Given the description of an element on the screen output the (x, y) to click on. 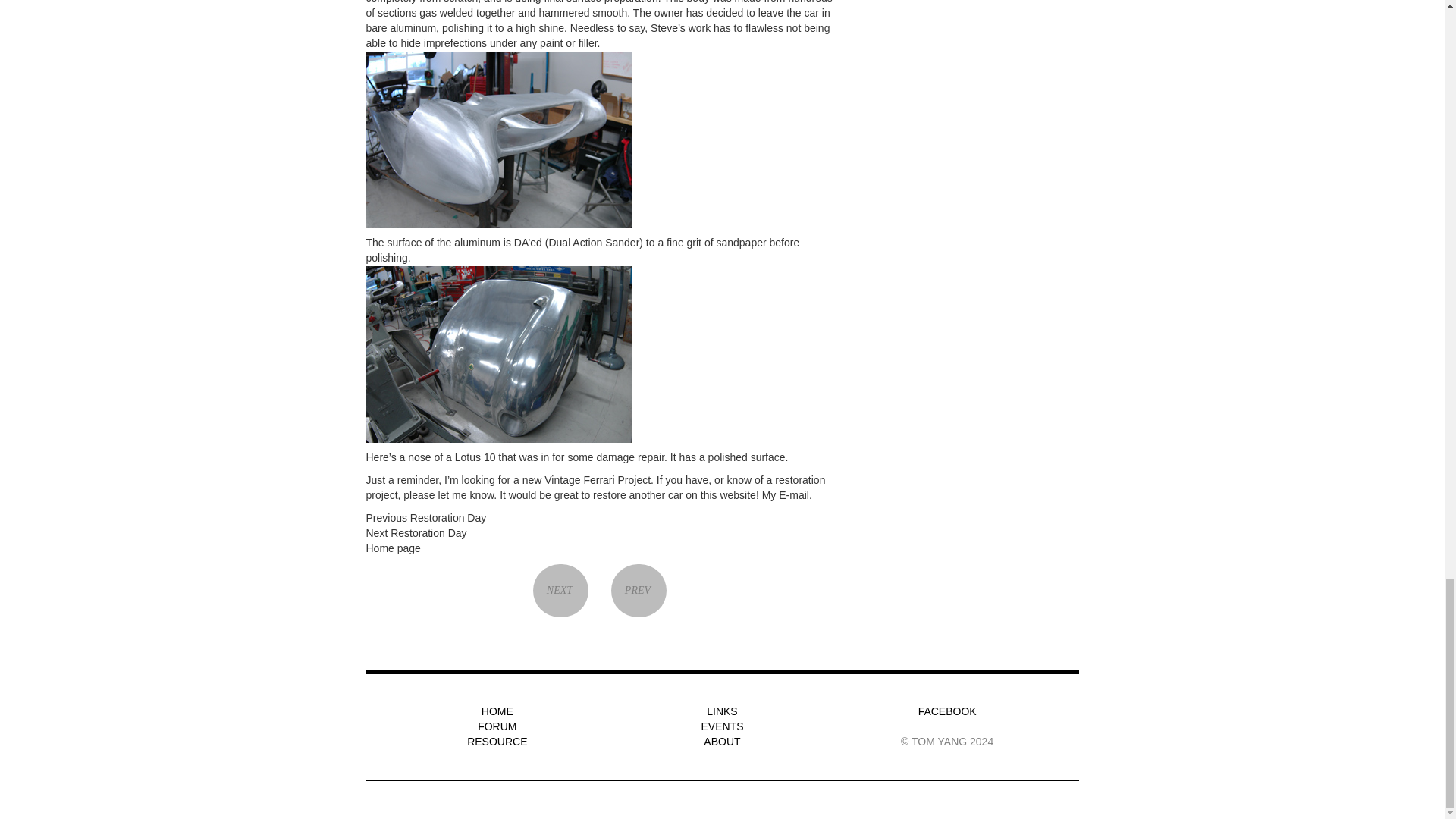
RESOURCE (497, 741)
EVENTS (721, 726)
HOME (497, 711)
LINKS (721, 711)
FORUM (496, 726)
ABOUT (721, 741)
FACEBOOK (947, 711)
